Given the description of an element on the screen output the (x, y) to click on. 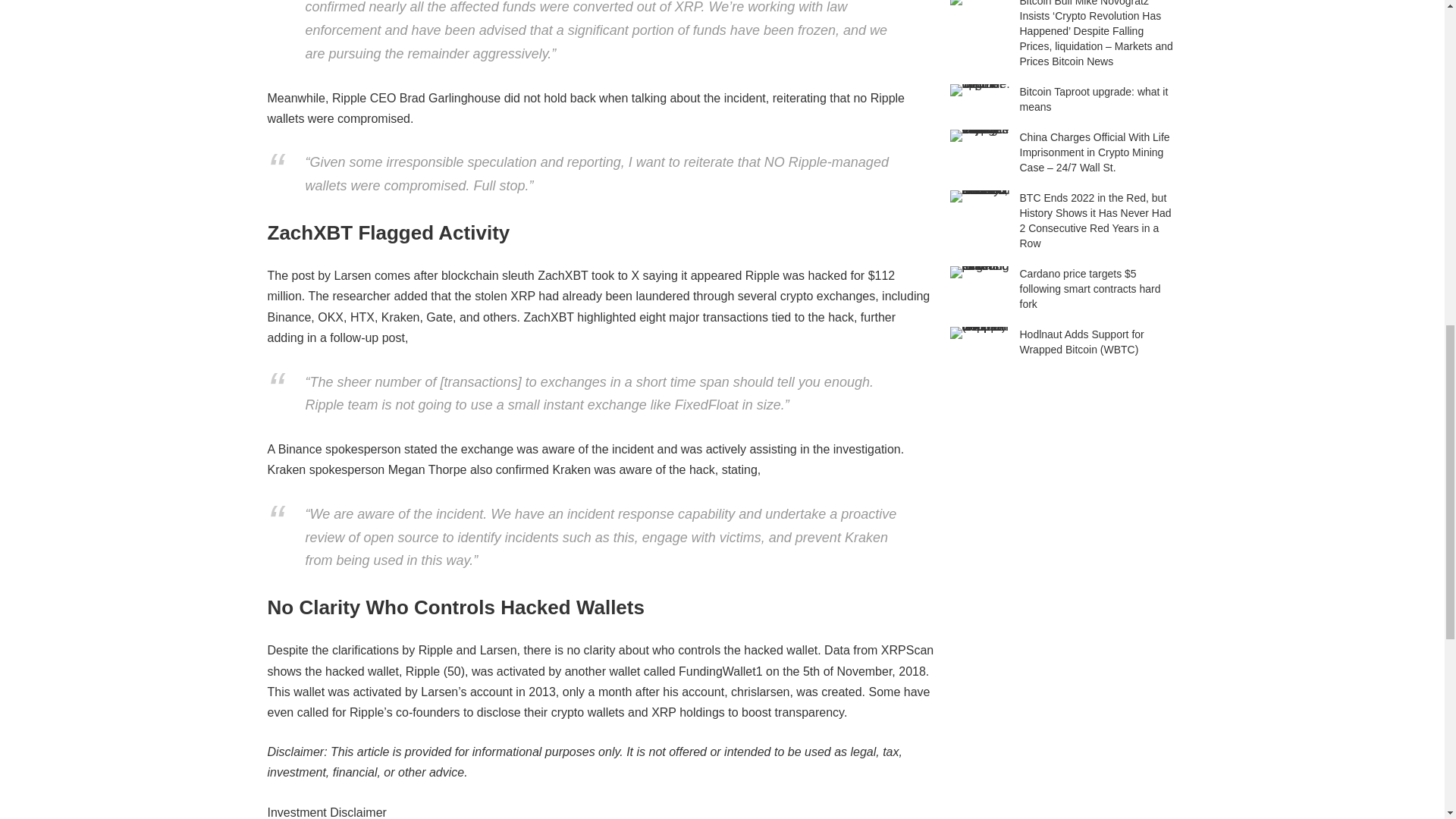
Cardano price targets  following smart contracts hard fork (979, 272)
Bitcoin Taproot upgrade: what it means (979, 90)
